Given the description of an element on the screen output the (x, y) to click on. 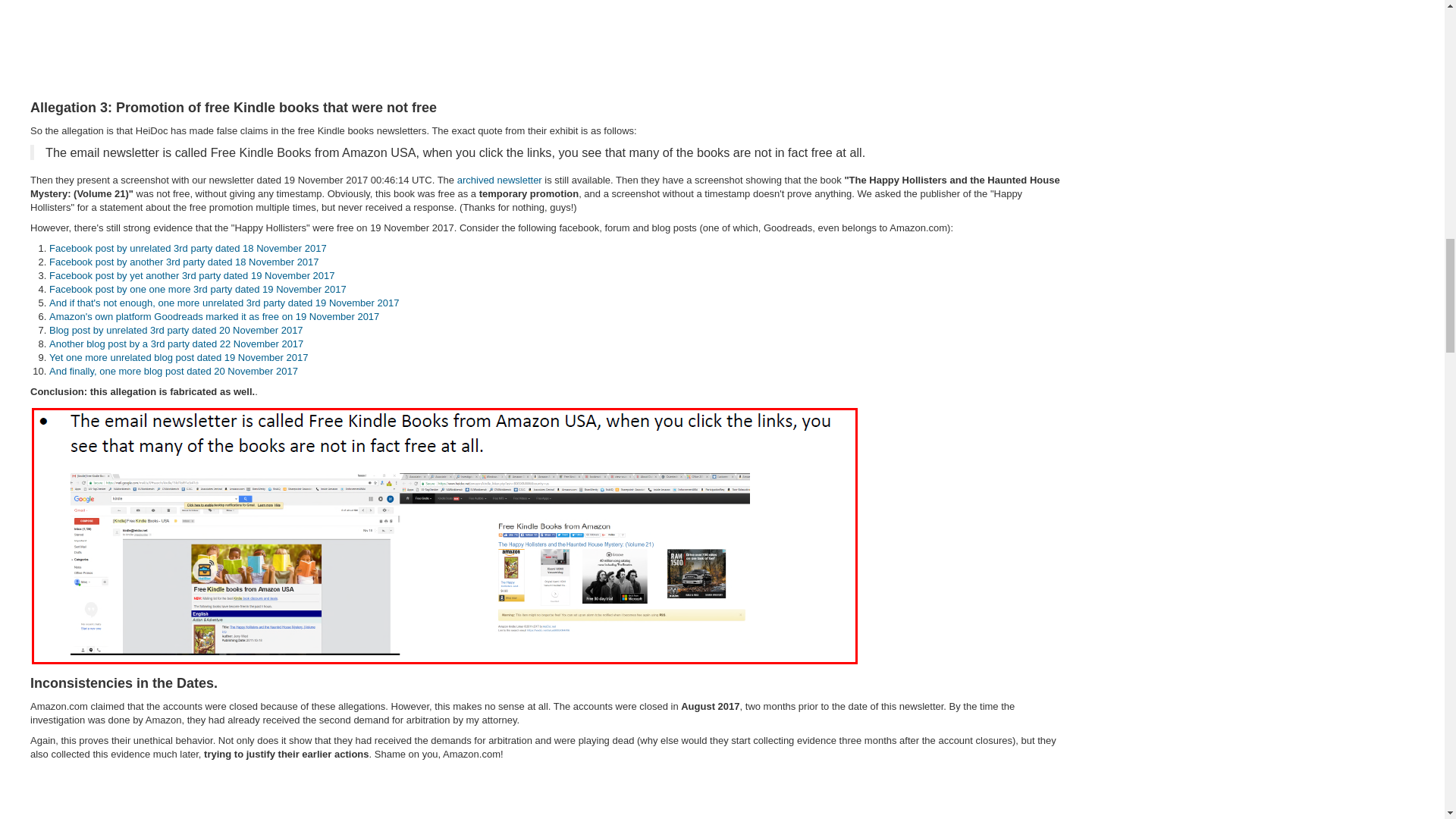
Facebook post by unrelated 3rd party dated 18 November 2017 (187, 247)
And finally, one more blog post dated 20 November 2017 (173, 370)
archived newsletter (499, 179)
Facebook post by another 3rd party dated 18 November 2017 (183, 261)
Another blog post by a 3rd party dated 22 November 2017 (175, 343)
